Given the description of an element on the screen output the (x, y) to click on. 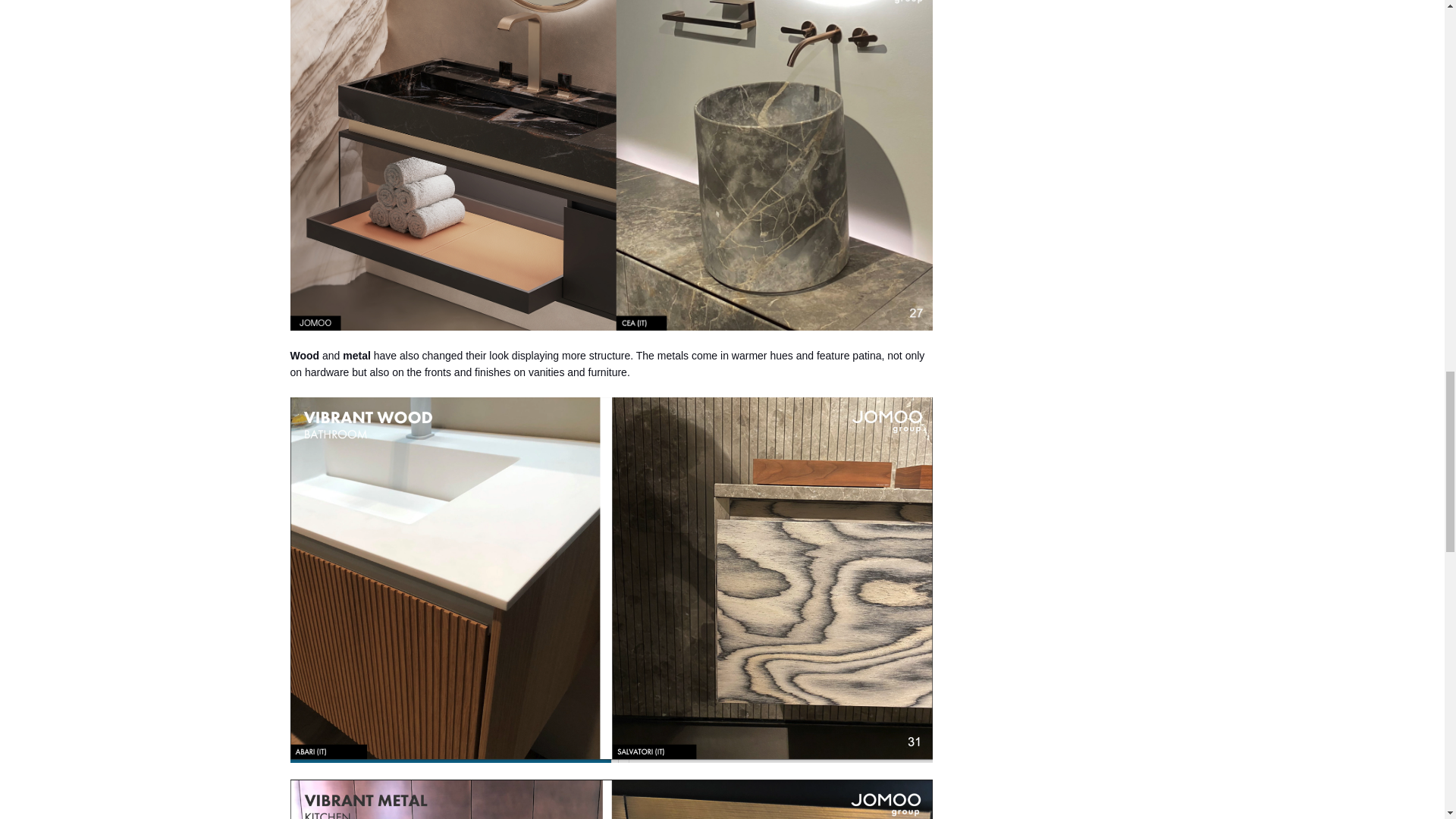
1677056697593006144.png (611, 799)
